Given the description of an element on the screen output the (x, y) to click on. 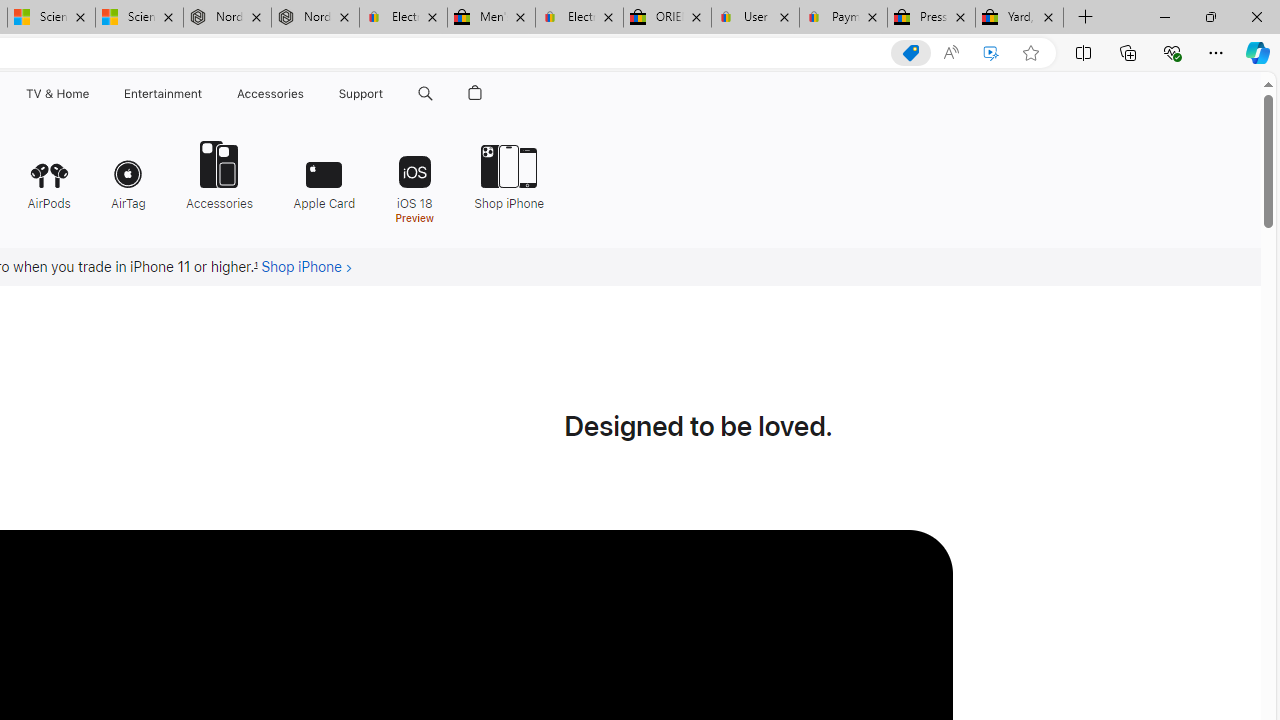
User Privacy Notice | eBay (754, 17)
Yard, Garden & Outdoor Living (1019, 17)
TV & Home (56, 93)
Accessories (219, 173)
Shop iPhone (509, 173)
iOS 18 Preview (414, 179)
Support (361, 93)
Apple Card (324, 173)
Press Room - eBay Inc. (931, 17)
